Given the description of an element on the screen output the (x, y) to click on. 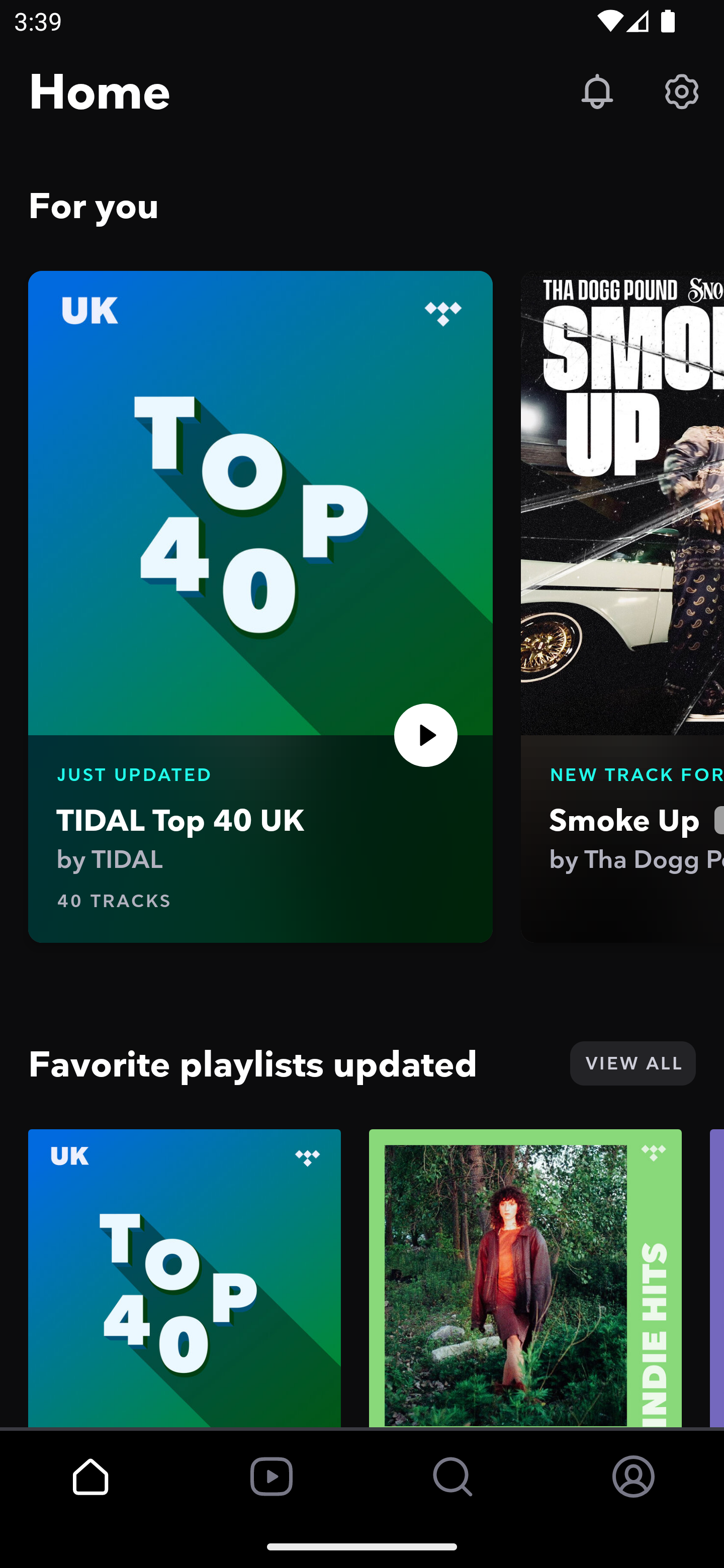
Updates (597, 90)
Settings (681, 90)
Play (425, 735)
VIEW ALL (632, 1063)
